Given the description of an element on the screen output the (x, y) to click on. 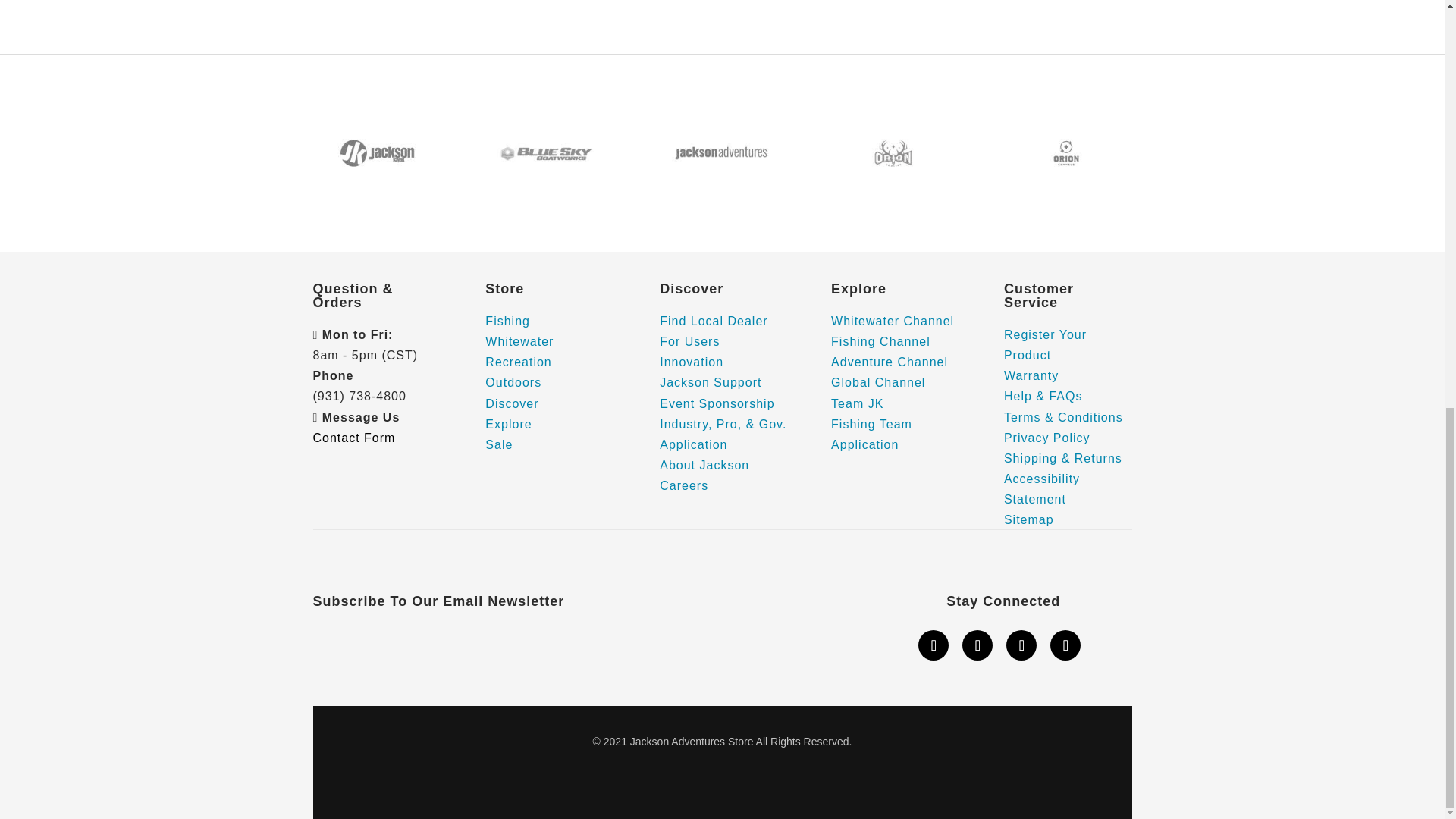
Follow on RSS (1064, 644)
Follow on Instagram (977, 644)
Follow on Youtube (1021, 644)
Follow on Facebook (933, 644)
